Given the description of an element on the screen output the (x, y) to click on. 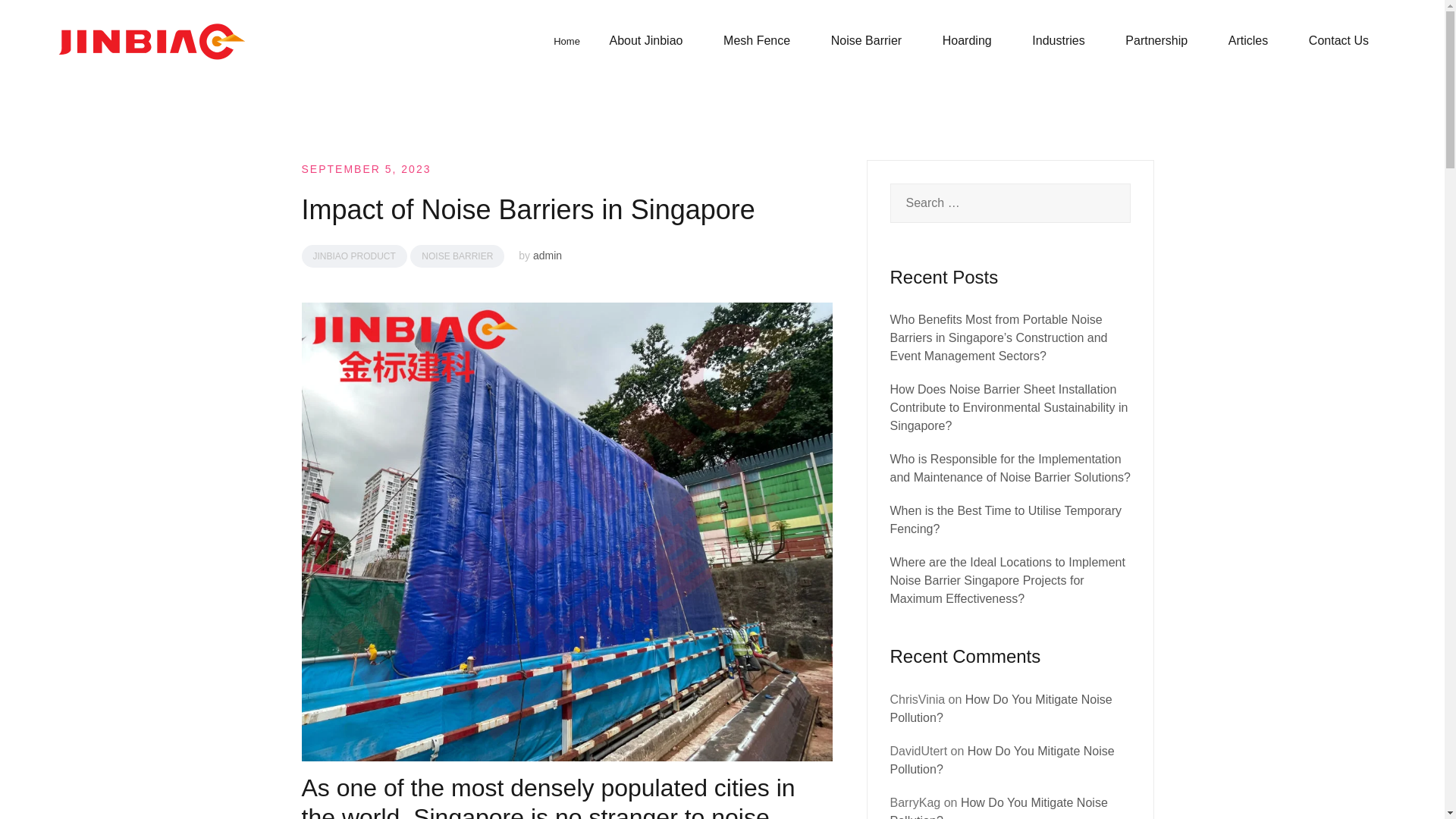
Mesh Fence (756, 40)
Noise Barrier (866, 40)
Hoarding (966, 40)
Industries (1058, 40)
About Jinbiao (646, 40)
Home (566, 41)
